Given the description of an element on the screen output the (x, y) to click on. 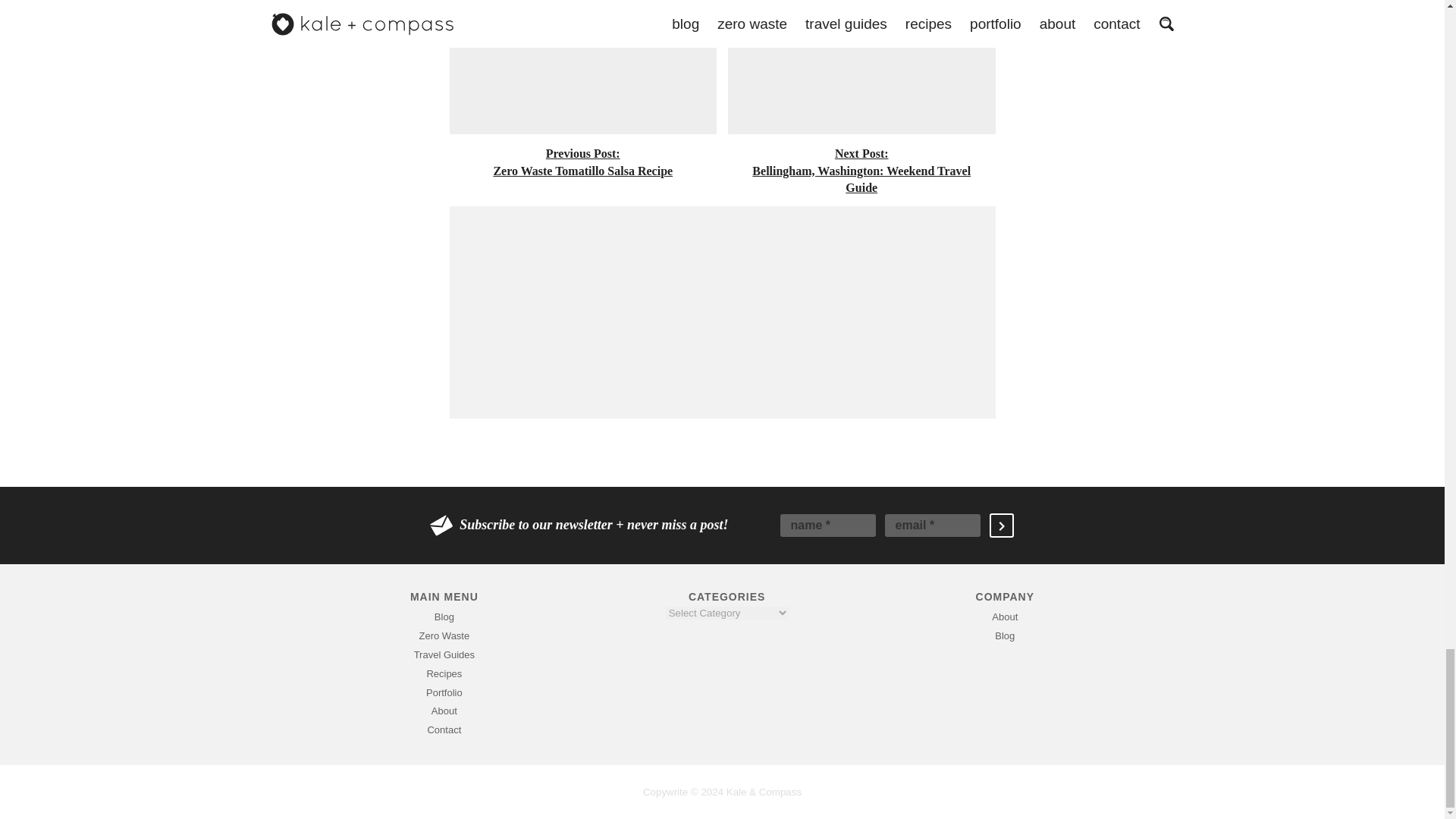
Portfolio (582, 90)
Travel Guides (444, 692)
Zero Waste (443, 654)
Blog (443, 635)
Recipes (443, 616)
